Given the description of an element on the screen output the (x, y) to click on. 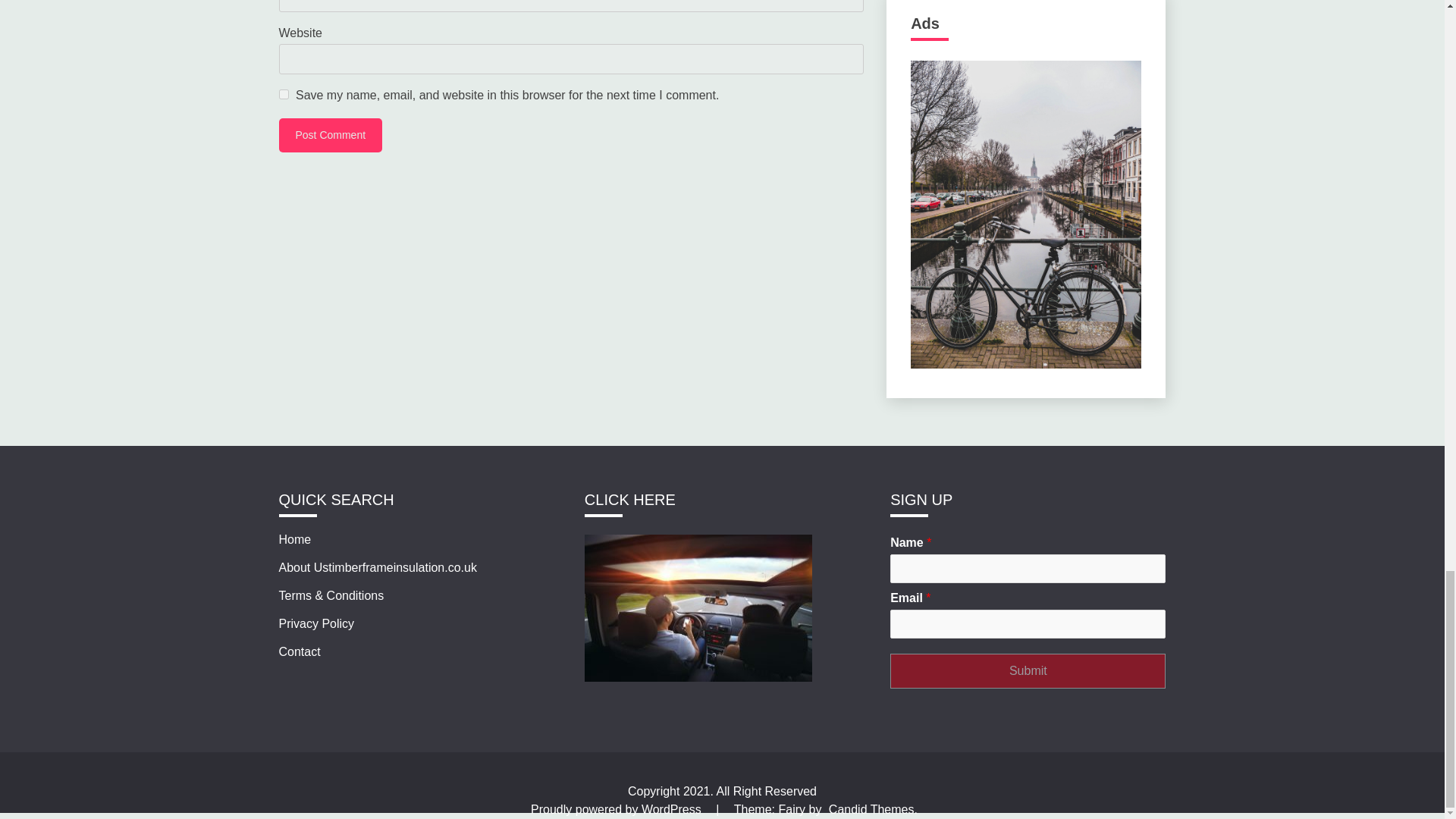
Post Comment (330, 134)
yes (283, 94)
Post Comment (330, 134)
